Given the description of an element on the screen output the (x, y) to click on. 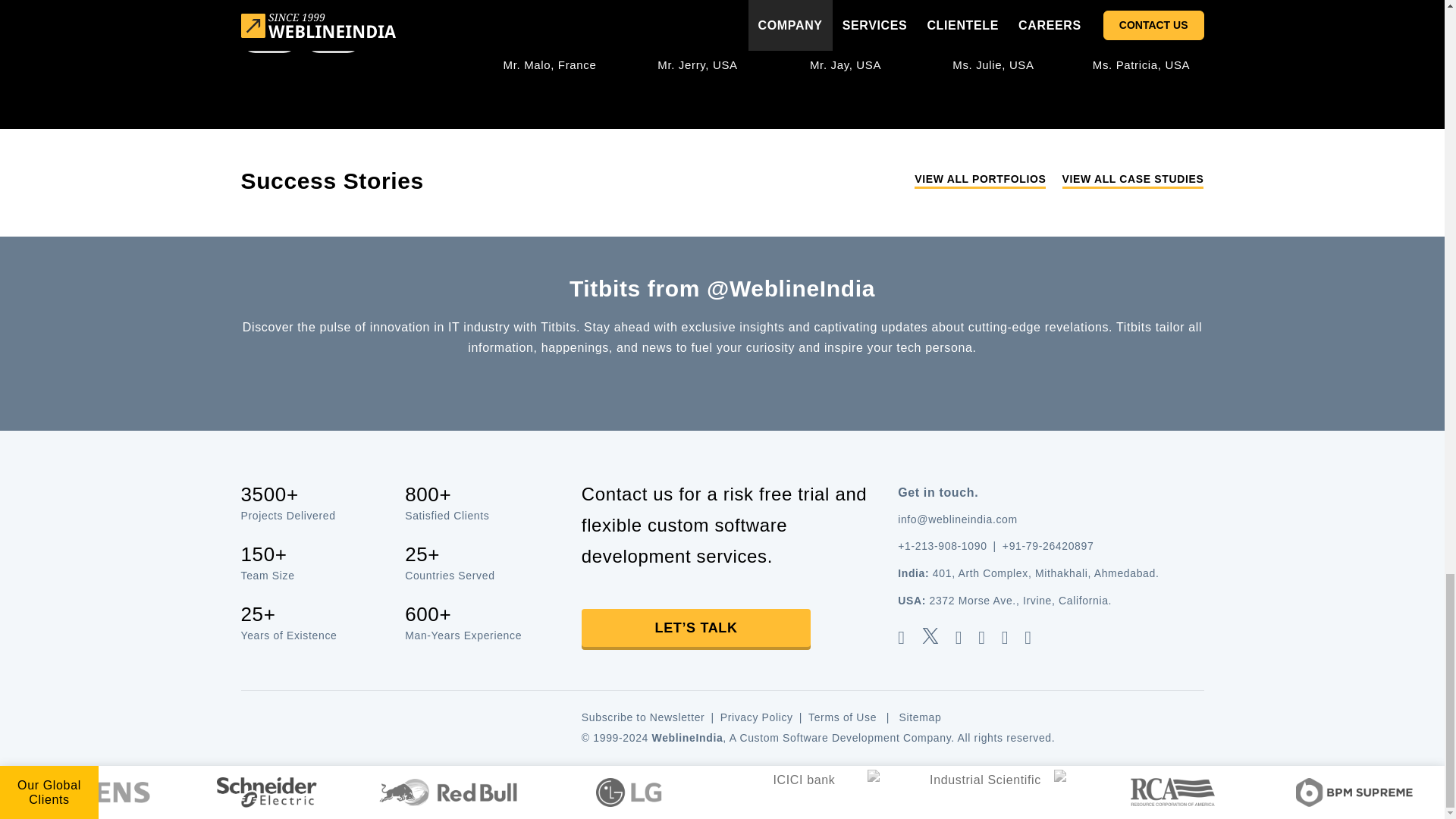
Facebook (907, 637)
Linkedin (964, 637)
GitHub (1034, 637)
Twitter (936, 637)
DMCA.com Protection Status (395, 726)
Instagram (987, 637)
YouTube (1010, 637)
